Given the description of an element on the screen output the (x, y) to click on. 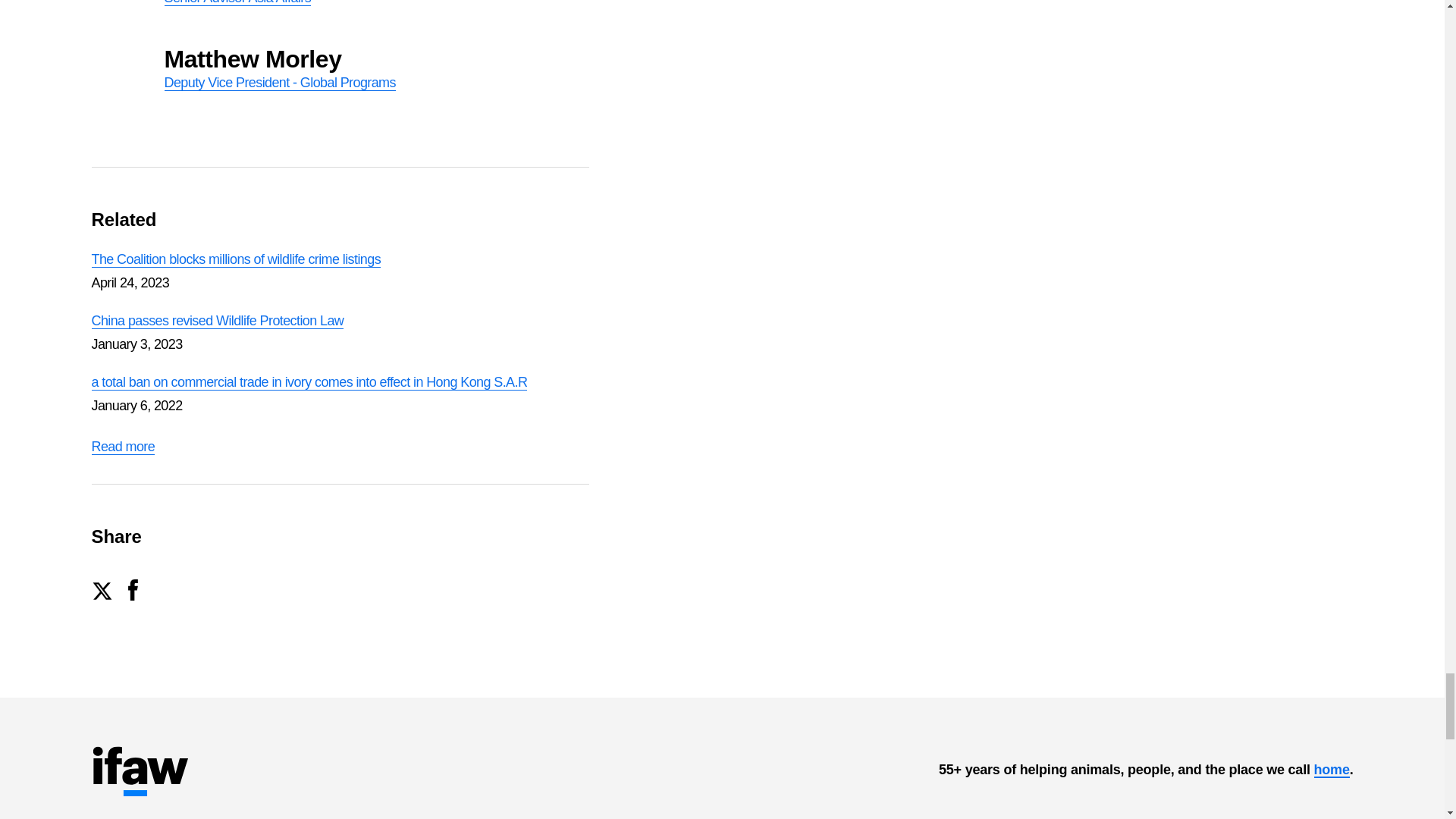
Read more (122, 446)
home (1331, 770)
China passes revised Wildlife Protection Law (216, 320)
The Coalition blocks millions of wildlife crime listings (339, 17)
